Given the description of an element on the screen output the (x, y) to click on. 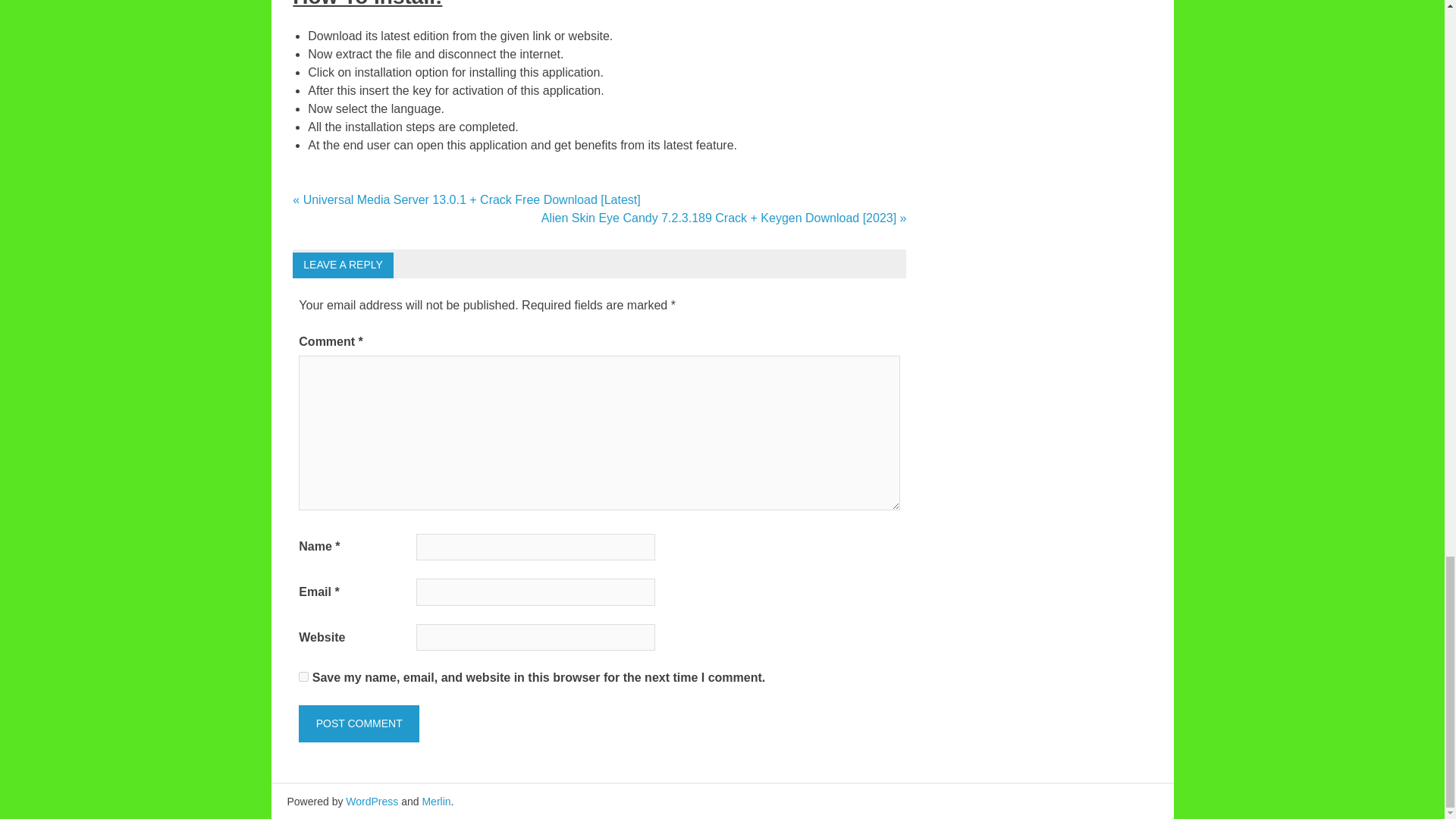
Merlin WordPress Theme (435, 801)
Post Comment (358, 723)
WordPress (371, 801)
yes (303, 676)
Post Comment (358, 723)
